Given the description of an element on the screen output the (x, y) to click on. 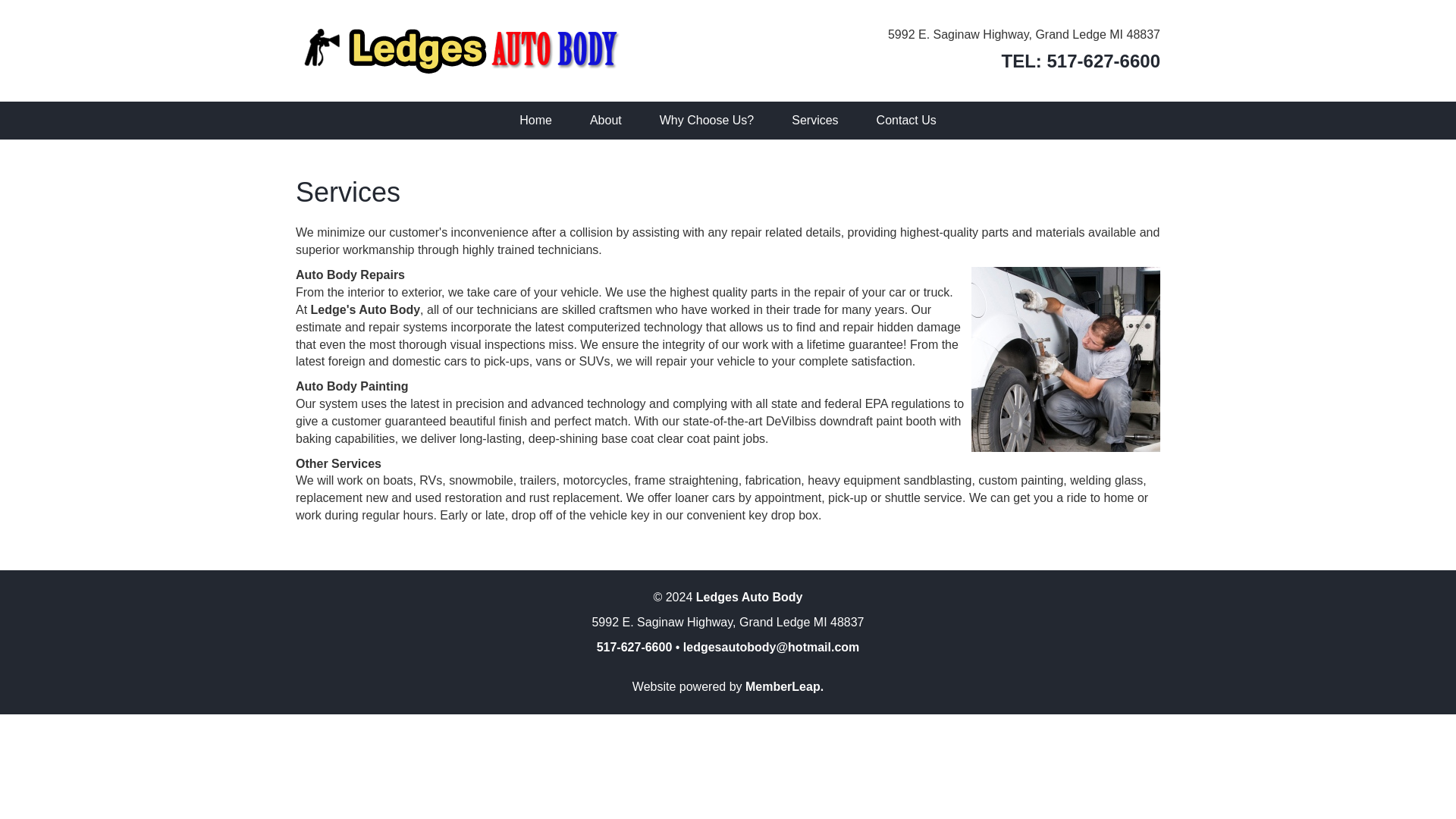
TEL: 517-627-6600 (1080, 60)
About (605, 120)
517-627-6600 (634, 646)
Contact Us (906, 120)
MemberLeap. (784, 686)
Home (535, 120)
Why Choose Us? (706, 120)
Services (815, 120)
Ledges Auto Body (749, 596)
